Given the description of an element on the screen output the (x, y) to click on. 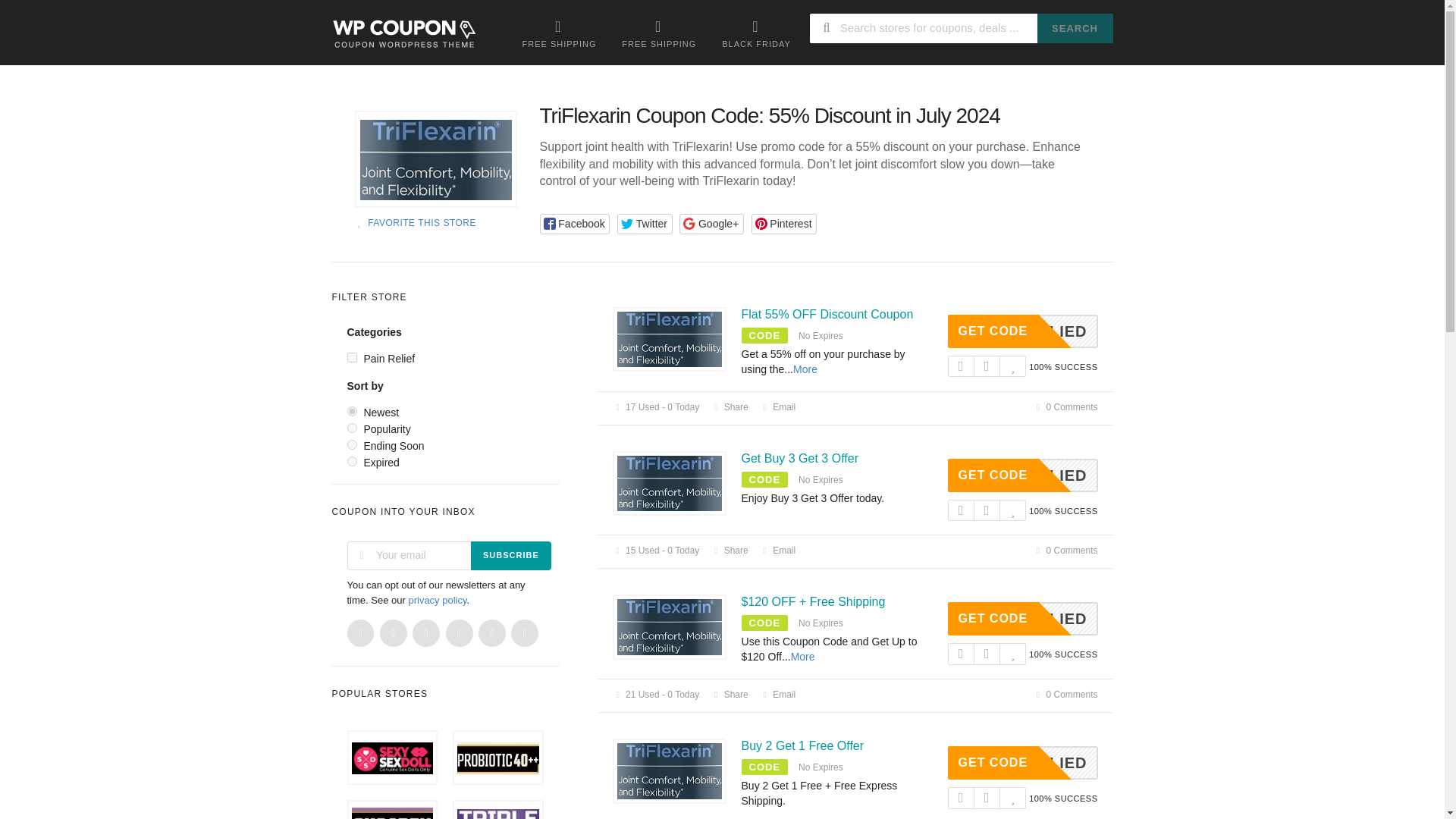
FAVORITE THIS STORE (416, 222)
Coupon Comments (1064, 407)
Share link on Twitter (644, 223)
SEARCH (1074, 28)
Email (778, 550)
FREE SHIPPING (658, 33)
ending-soon (351, 444)
Get Buy 3 Get 3 Offer (800, 458)
popularity (351, 428)
BLACK FRIDAY (756, 33)
Share (729, 550)
newest (351, 411)
Send this coupon to an email (778, 407)
Share (729, 407)
Email (778, 407)
